Given the description of an element on the screen output the (x, y) to click on. 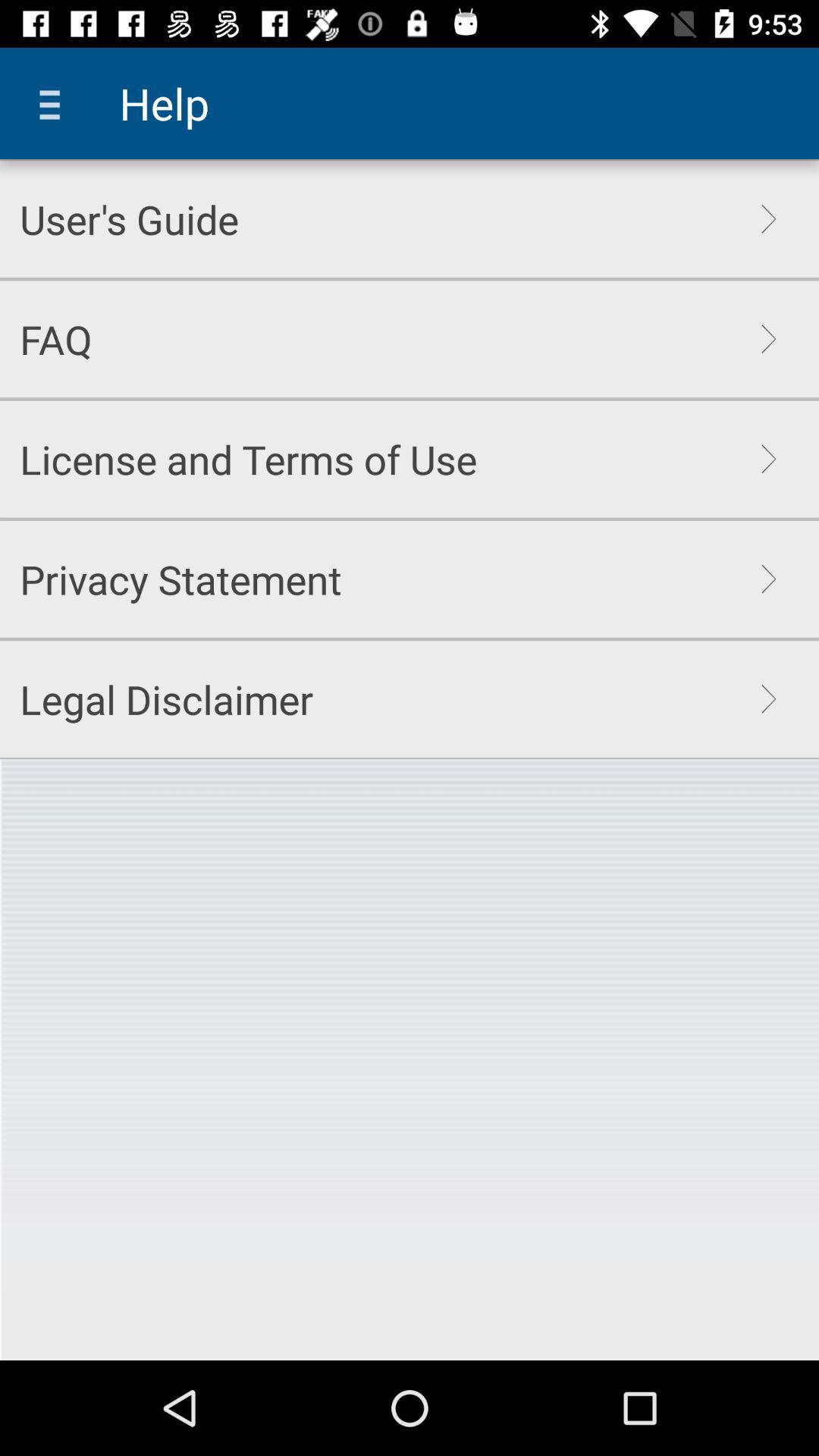
choose item above the legal disclaimer (180, 578)
